Given the description of an element on the screen output the (x, y) to click on. 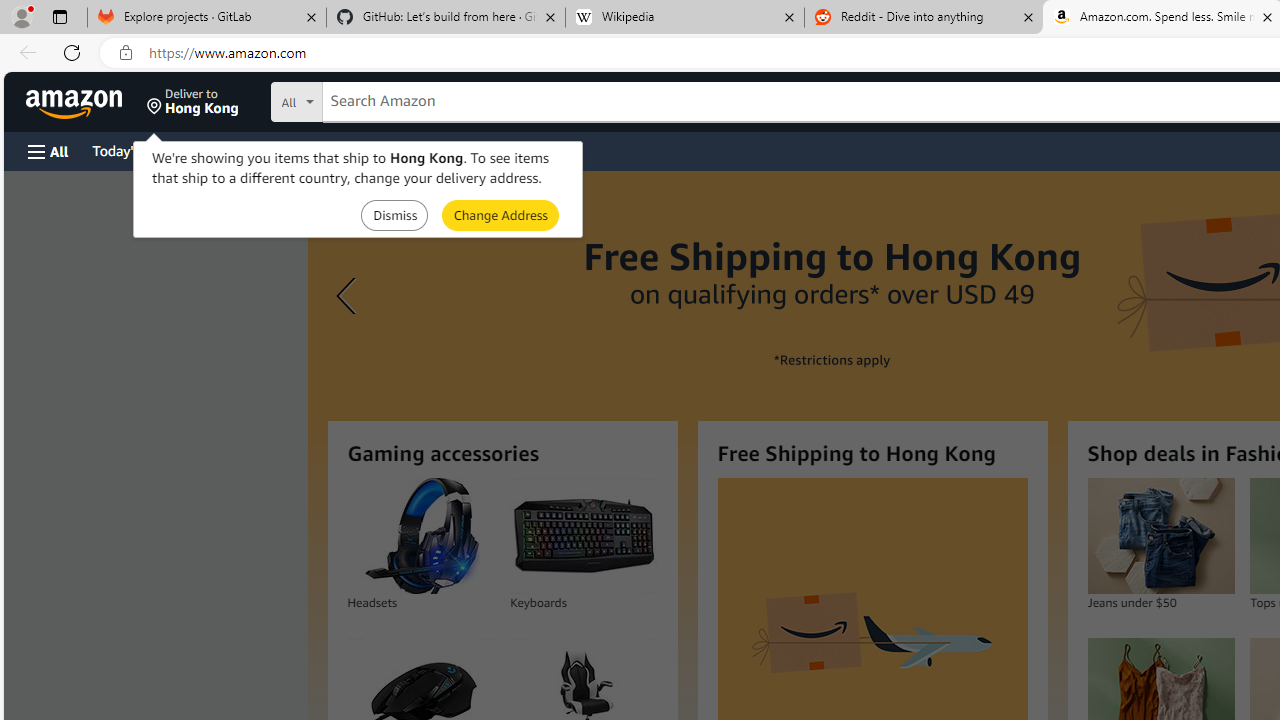
Headsets (420, 536)
Keyboards (584, 536)
Keyboards (583, 536)
Jeans under $50 (1160, 536)
Registry (360, 150)
Deliver to Hong Kong (193, 101)
Skip to main content (86, 100)
Headsets (420, 536)
